Given the description of an element on the screen output the (x, y) to click on. 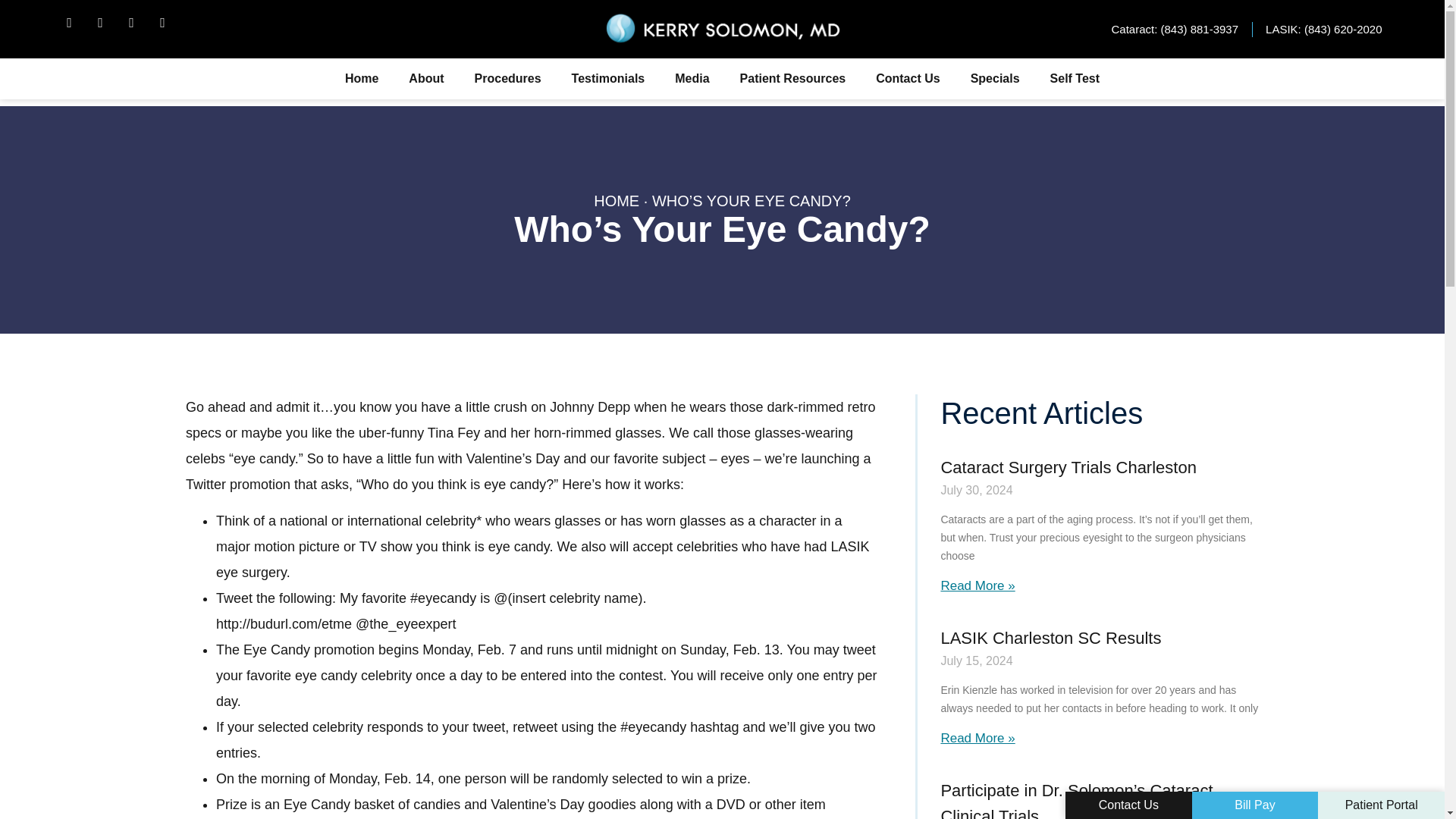
Patient Resources (793, 78)
Home (361, 78)
Testimonials (608, 78)
Procedures (508, 78)
Self Test (1075, 78)
Media (691, 78)
Specials (995, 78)
About (425, 78)
Contact Us (907, 78)
